Given the description of an element on the screen output the (x, y) to click on. 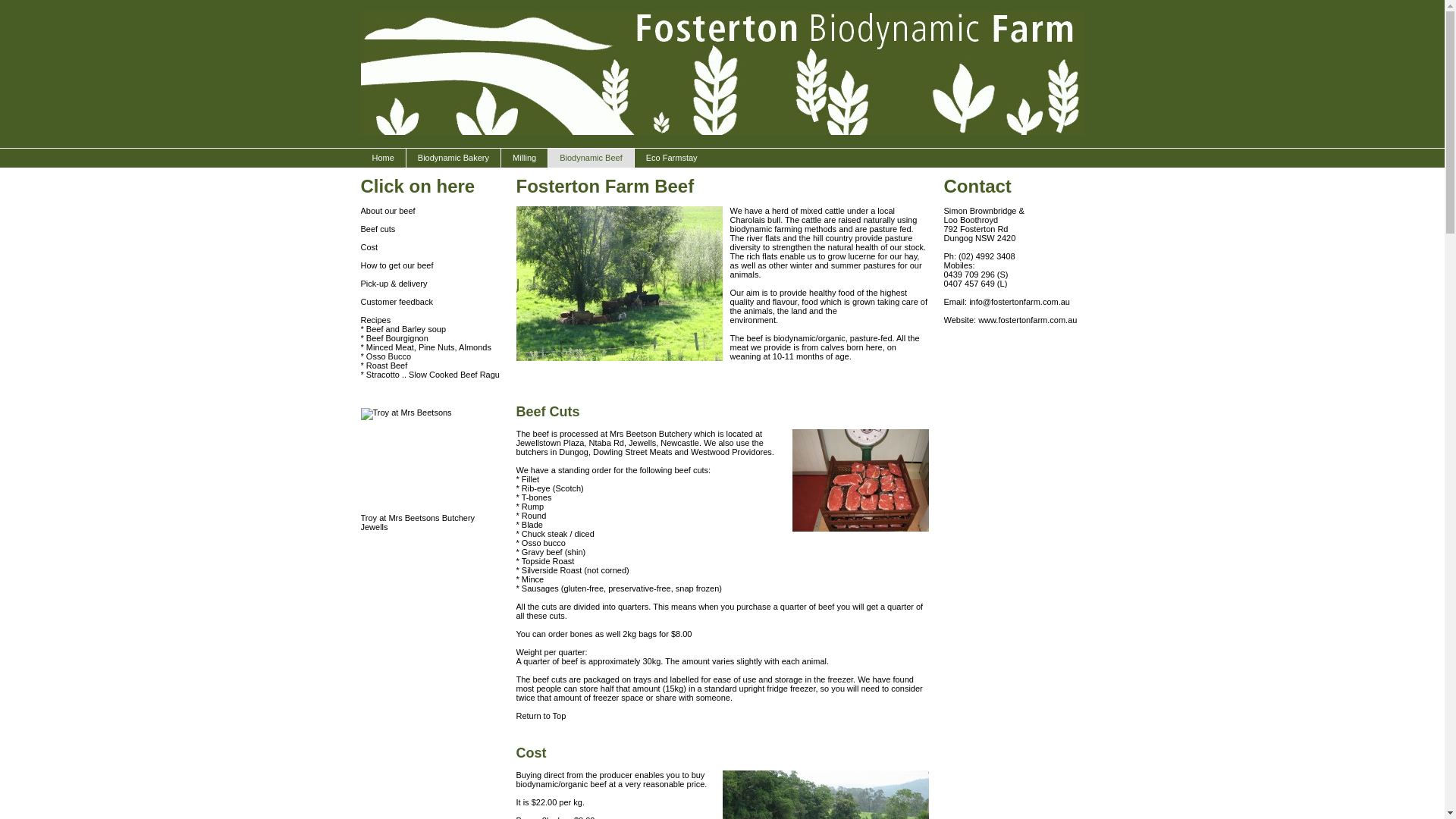
info@fostertonfarm.com.au Element type: text (1019, 301)
Biodynamic Bakery Element type: text (452, 157)
Beef cuts Element type: text (377, 228)
Cost Element type: text (369, 246)
Home Element type: text (382, 157)
Troy at Mrs Beetsons Element type: hover (430, 460)
Biodynamic Beef Element type: text (590, 157)
Eco Farmstay Element type: text (671, 157)
Milling Element type: text (523, 157)
